Given the description of an element on the screen output the (x, y) to click on. 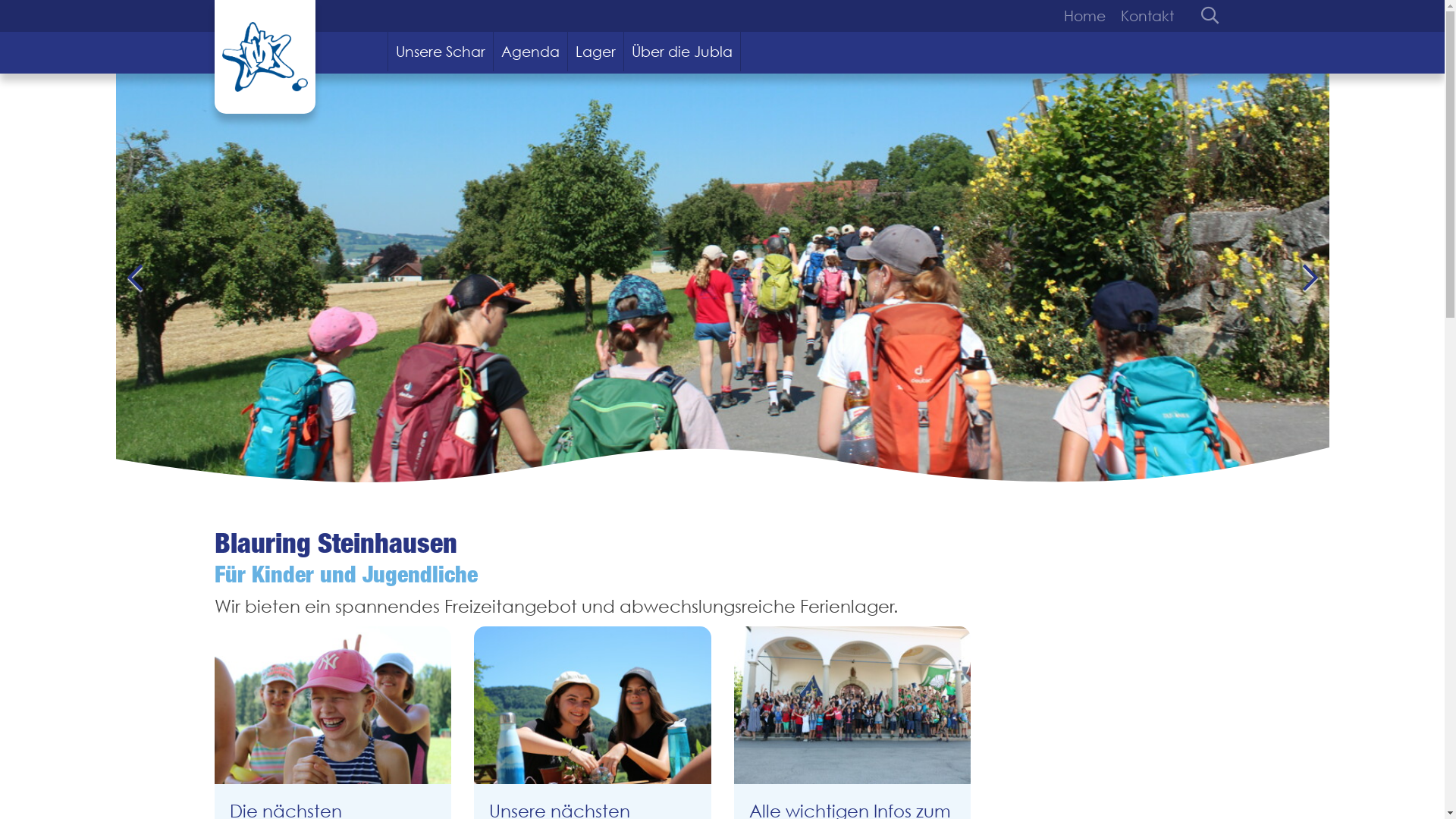
zur Agenda Element type: hover (592, 705)
mehr erfahren Element type: hover (852, 705)
Unsere Schar Element type: text (440, 51)
Kontakt Element type: text (1143, 15)
Agenda Element type: text (530, 51)
Lager Element type: text (595, 51)
Blauring Steinhausen Element type: hover (264, 56)
Home Element type: text (1087, 15)
mehr erfahren Element type: hover (332, 705)
